Given the description of an element on the screen output the (x, y) to click on. 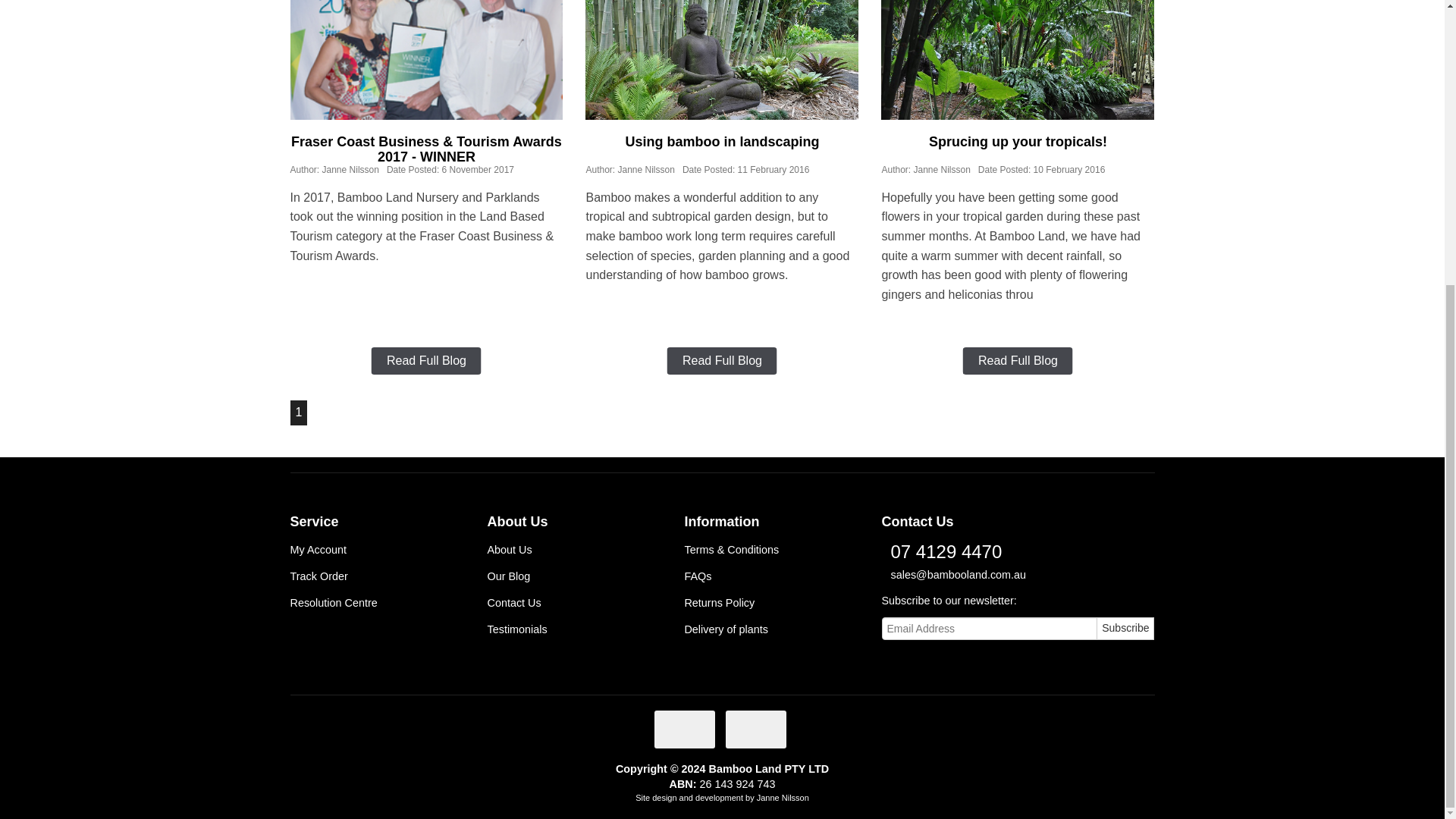
Subscribe (1125, 628)
